Given the description of an element on the screen output the (x, y) to click on. 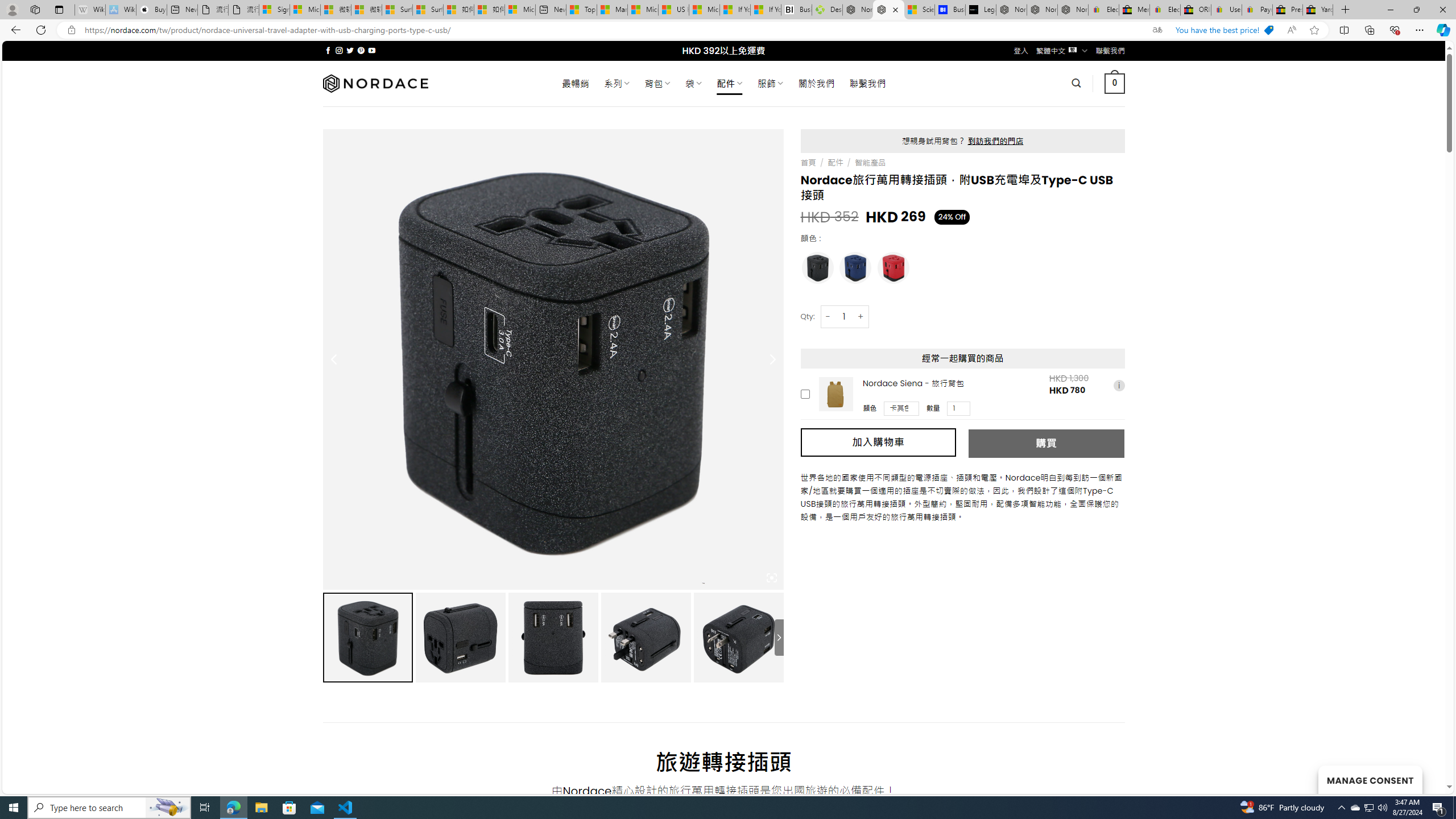
Follow on Instagram (338, 50)
Marine life - MSN (611, 9)
You have the best price! (1224, 29)
Class: upsell-v2-product-upsell-variable-product-qty-select (958, 408)
